Given the description of an element on the screen output the (x, y) to click on. 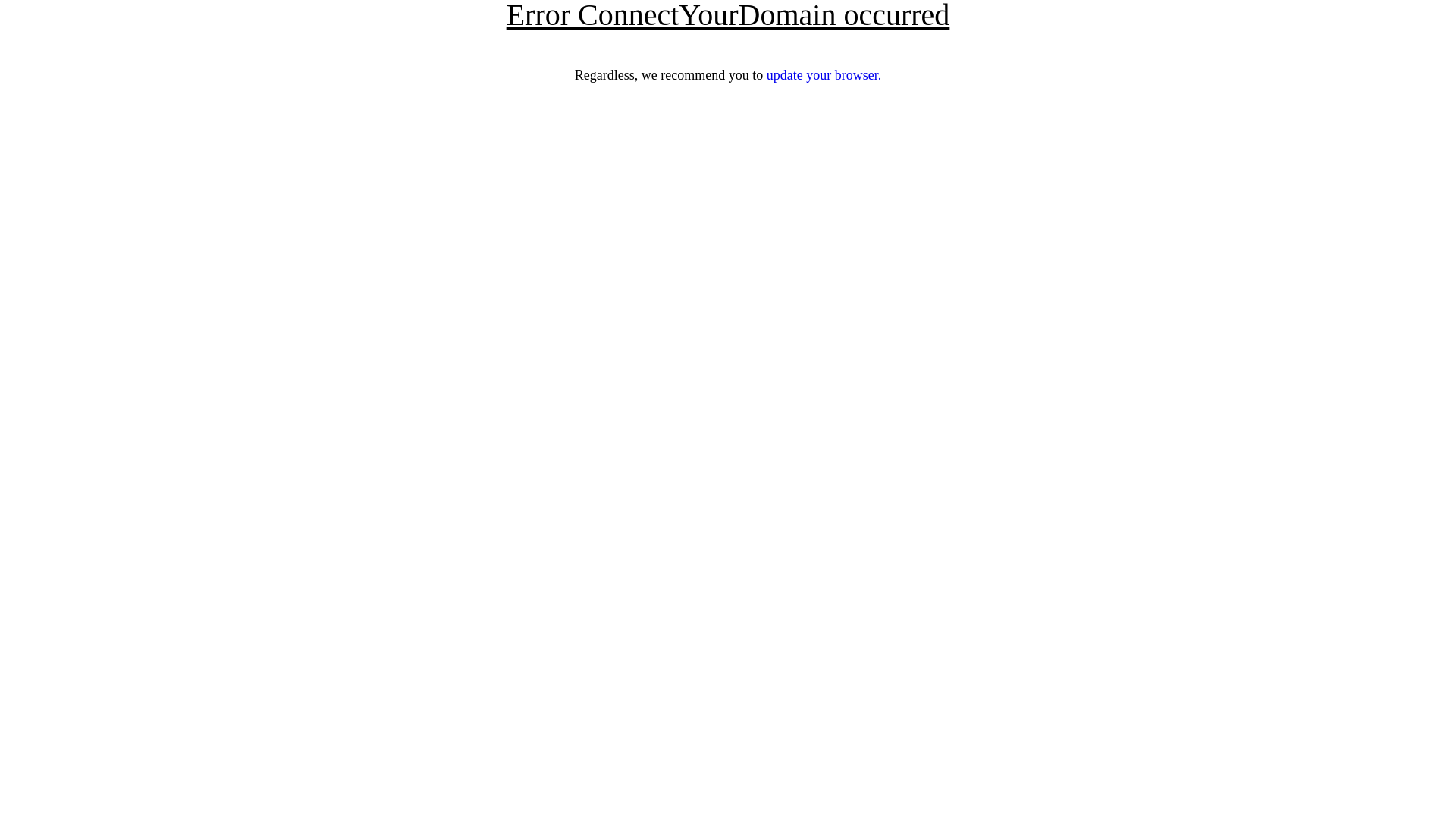
update your browser. Element type: text (823, 74)
